Given the description of an element on the screen output the (x, y) to click on. 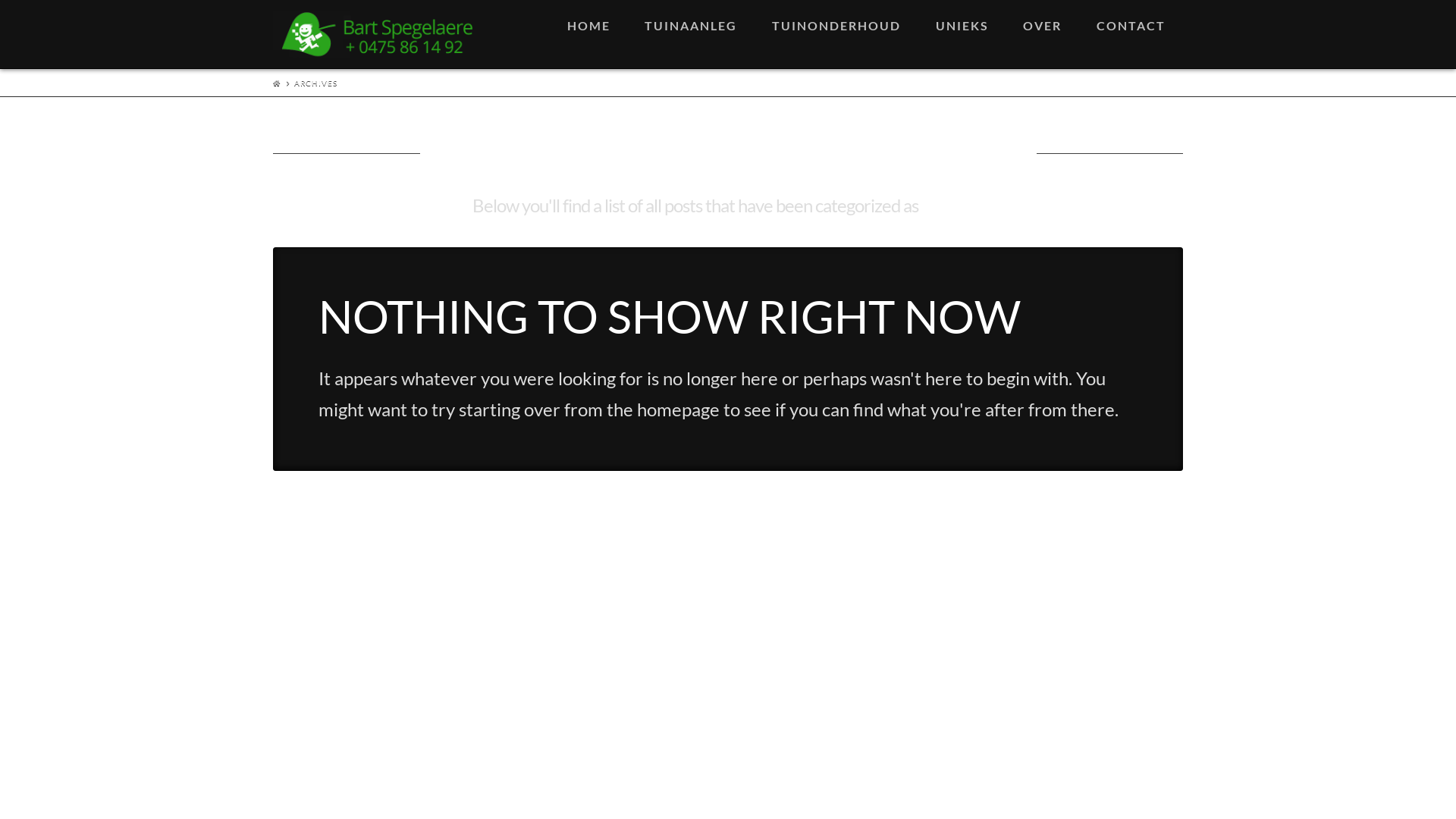
CONTACT Element type: text (1131, 34)
UNIEKS Element type: text (962, 34)
Tuinen Element type: hover (377, 35)
HOME Element type: text (588, 34)
TUINONDERHOUD Element type: text (836, 34)
TUINAANLEG Element type: text (690, 34)
OVER Element type: text (1042, 34)
